Given the description of an element on the screen output the (x, y) to click on. 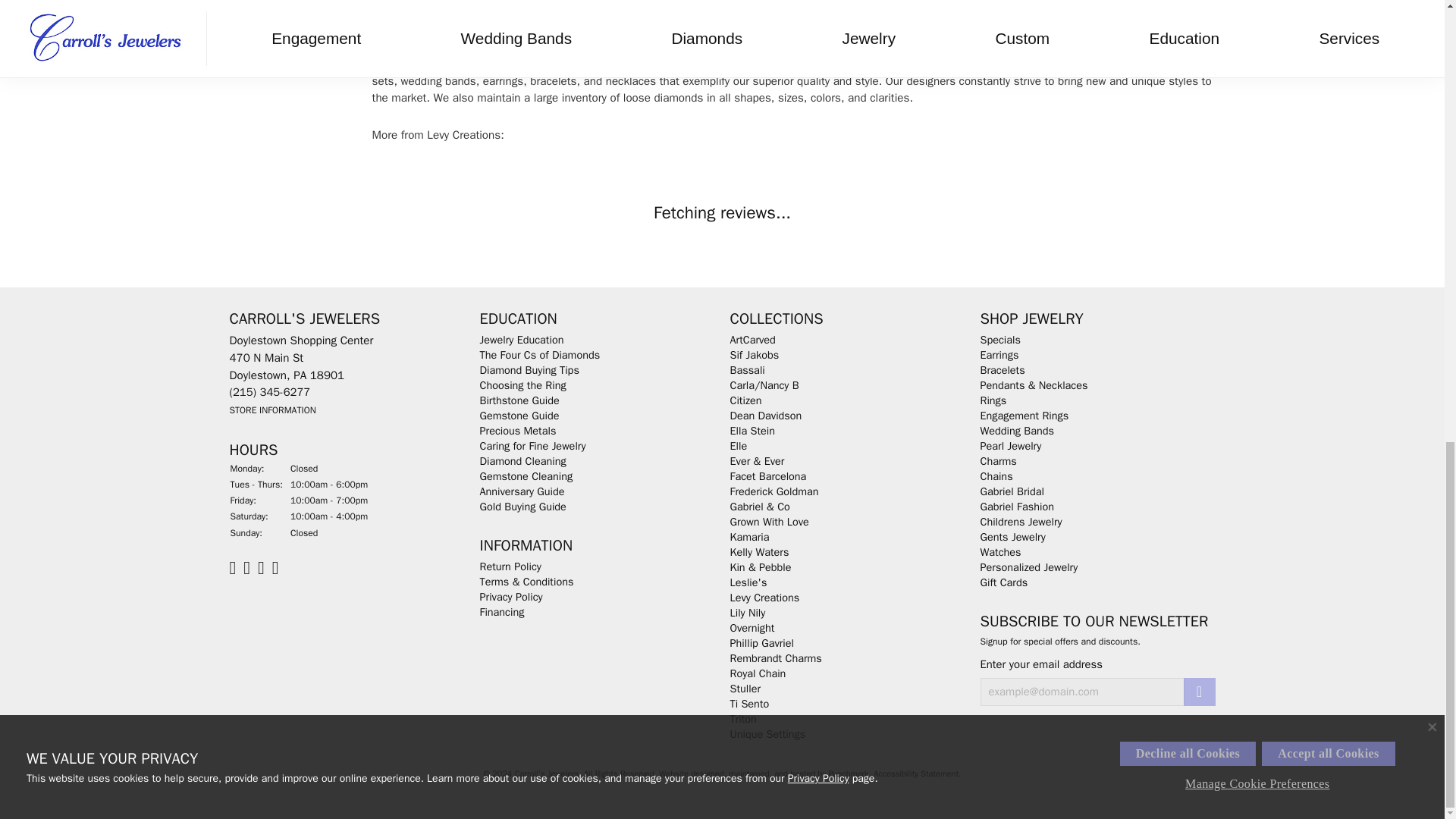
Enter your email address to subscribe (1081, 691)
